Given the description of an element on the screen output the (x, y) to click on. 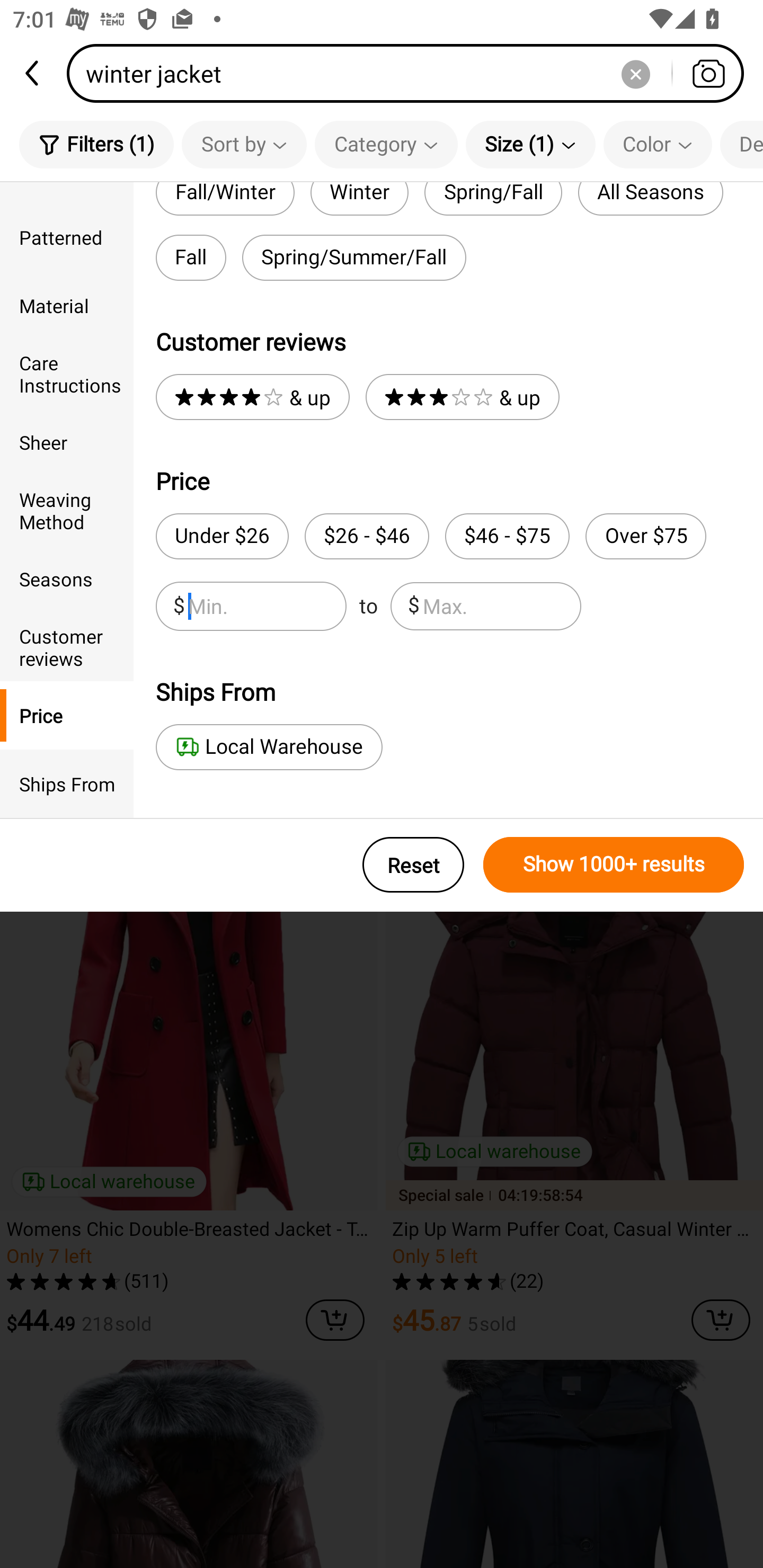
back (33, 72)
winter jacket (411, 73)
Delete search history (635, 73)
Search by photo (708, 73)
Filters (1) (96, 143)
Sort by (243, 143)
Category (385, 143)
Size (1) (530, 143)
Color (657, 143)
Fall/Winter (224, 198)
Winter (359, 198)
Spring/Fall (493, 198)
All Seasons (650, 198)
Patterned (66, 236)
Fall (190, 257)
Spring/Summer/Fall (353, 257)
Material (66, 305)
Care Instructions (66, 373)
& up (252, 397)
& up (462, 397)
Sheer (66, 441)
Weaving Method (66, 510)
Under $26 (221, 535)
$26 - $46 (366, 535)
$46 - $75 (506, 535)
Over $75 (645, 535)
Seasons (66, 578)
$ Min. to $ Max. (368, 605)
Customer reviews (66, 646)
Price (66, 714)
Local Warehouse (268, 746)
Ships From (66, 783)
Reset (412, 864)
Show 1000+ results (612, 864)
